Given the description of an element on the screen output the (x, y) to click on. 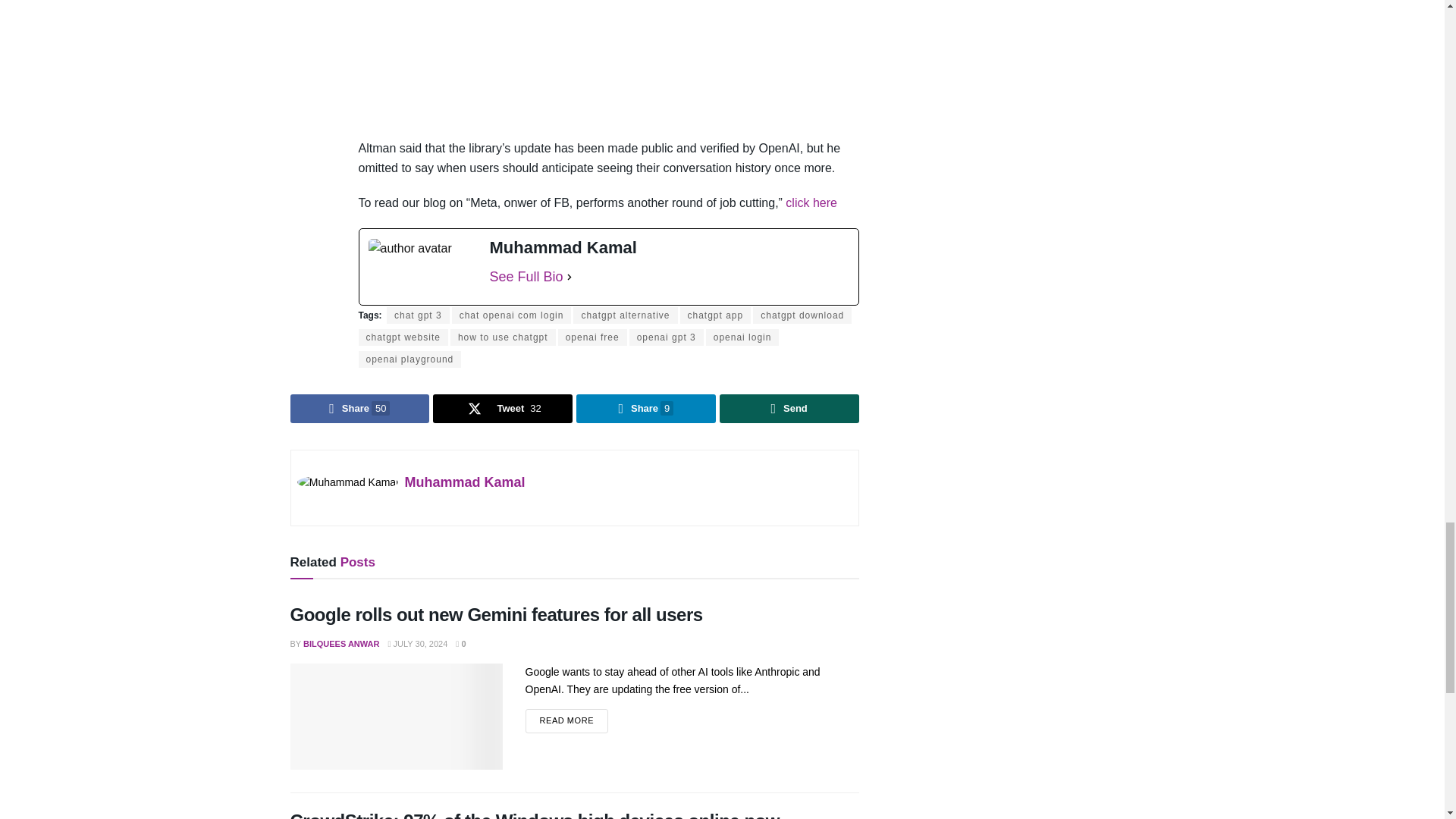
Sam Altman, the CEO of OpenAI - TechX Pakistan (608, 61)
